Given the description of an element on the screen output the (x, y) to click on. 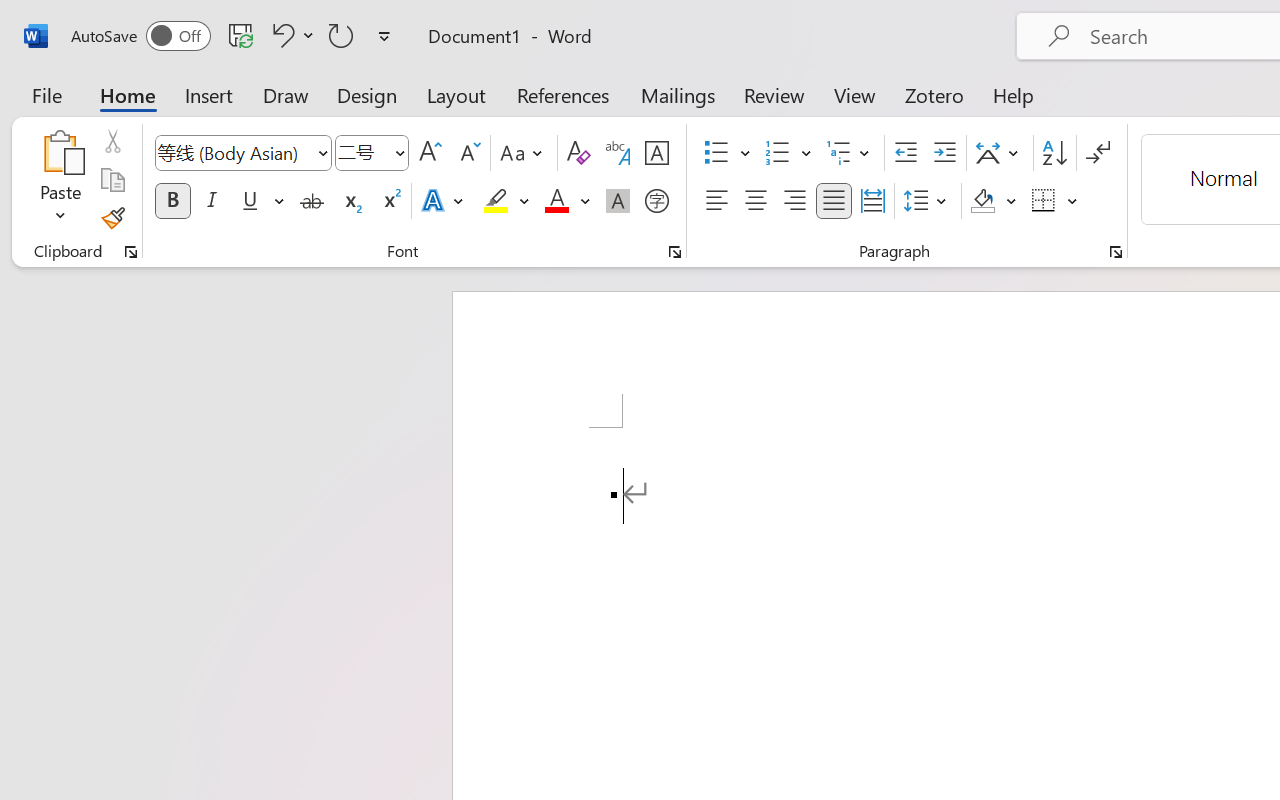
Repeat Style (341, 35)
Undo Apply Quick Style (290, 35)
Undo Apply Quick Style (280, 35)
